Given the description of an element on the screen output the (x, y) to click on. 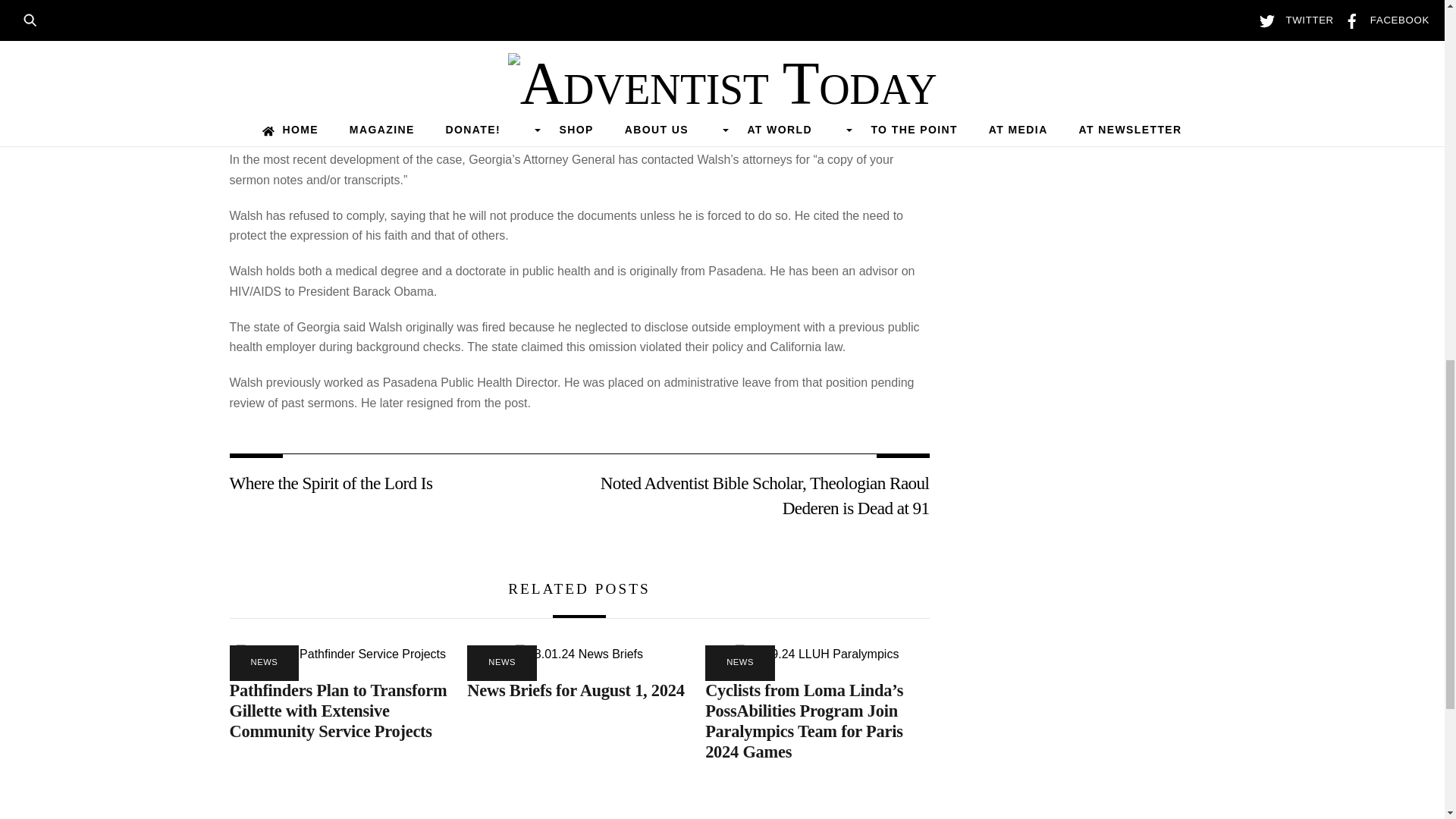
07.31.24 Pathfinder Service Projects (340, 654)
08.01.24 News Briefs (579, 654)
Where the Spirit of the Lord Is (392, 482)
NEWS (502, 662)
07.29.24 LLUH Paralympics (816, 654)
NEWS (263, 662)
